Given the description of an element on the screen output the (x, y) to click on. 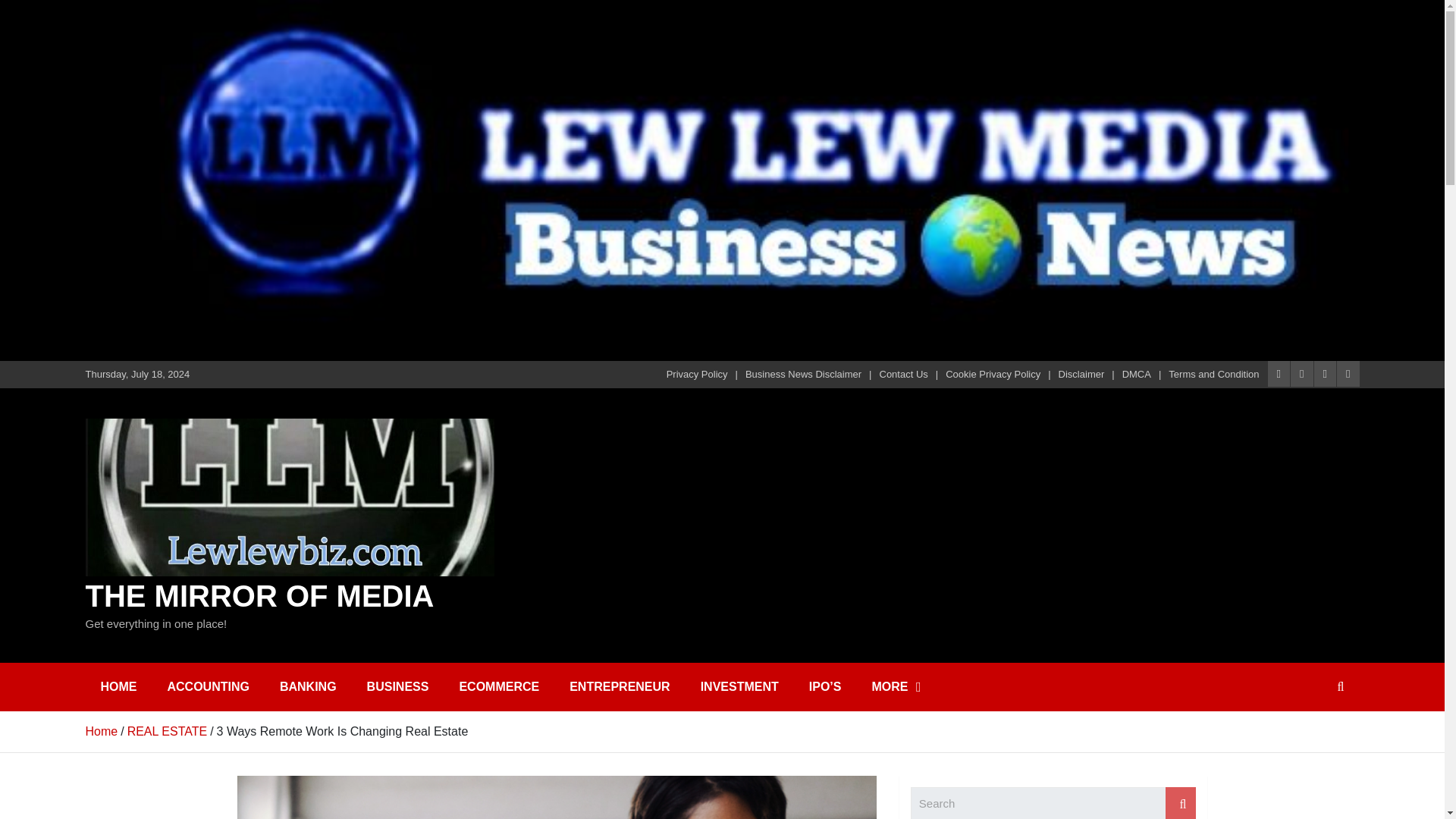
DMCA (1136, 374)
INVESTMENT (739, 686)
THE MIRROR OF MEDIA (258, 595)
Business News Disclaimer (803, 374)
Disclaimer (1081, 374)
BUSINESS (398, 686)
Contact Us (903, 374)
MORE (896, 686)
Terms and Condition (1214, 374)
REAL ESTATE (168, 730)
BANKING (308, 686)
Home (100, 730)
HOME (117, 686)
ECOMMERCE (499, 686)
Cookie Privacy Policy (992, 374)
